Given the description of an element on the screen output the (x, y) to click on. 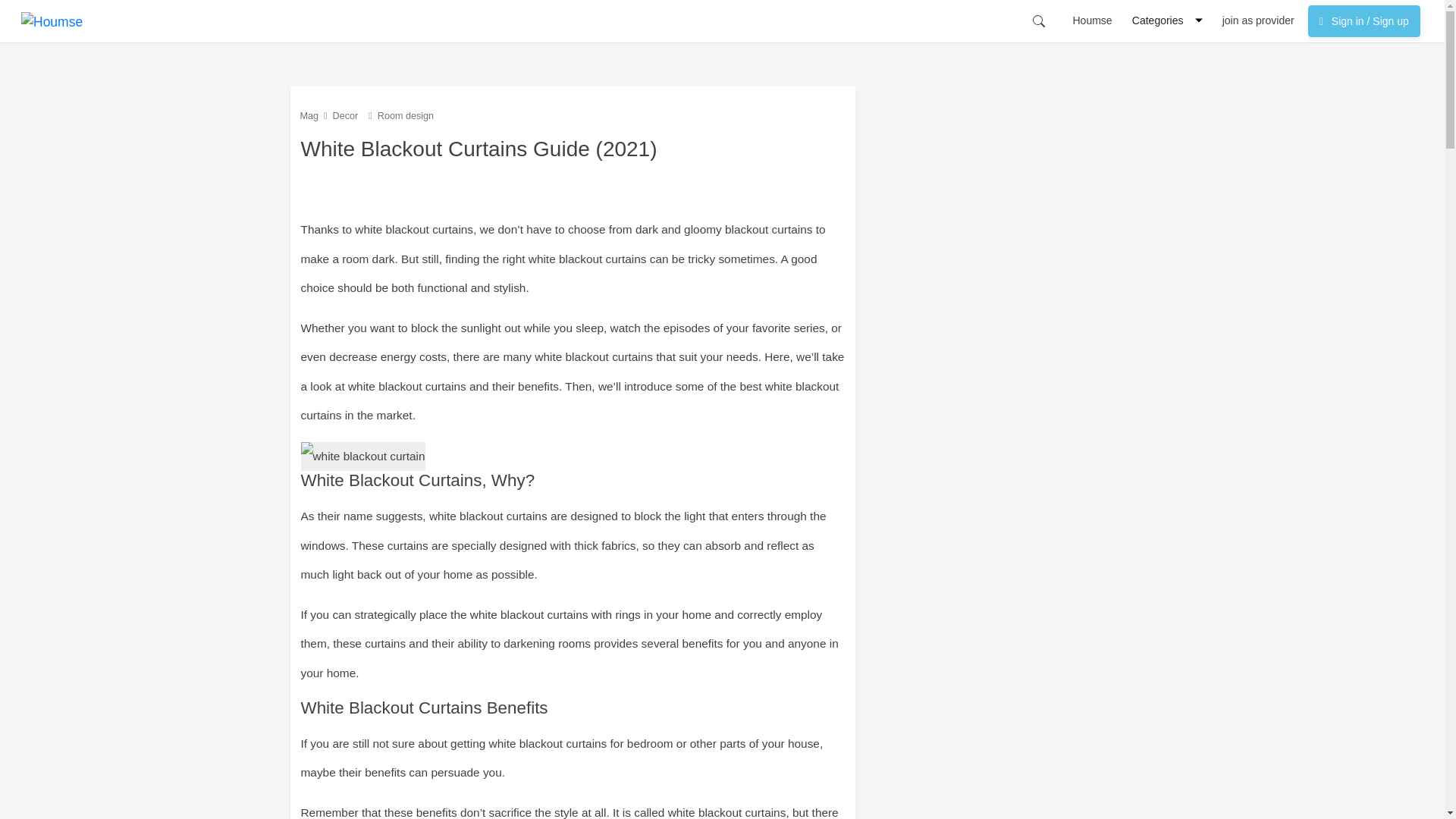
Houmse (1091, 20)
Decor (345, 115)
Mag (308, 115)
Room design (405, 115)
